Given the description of an element on the screen output the (x, y) to click on. 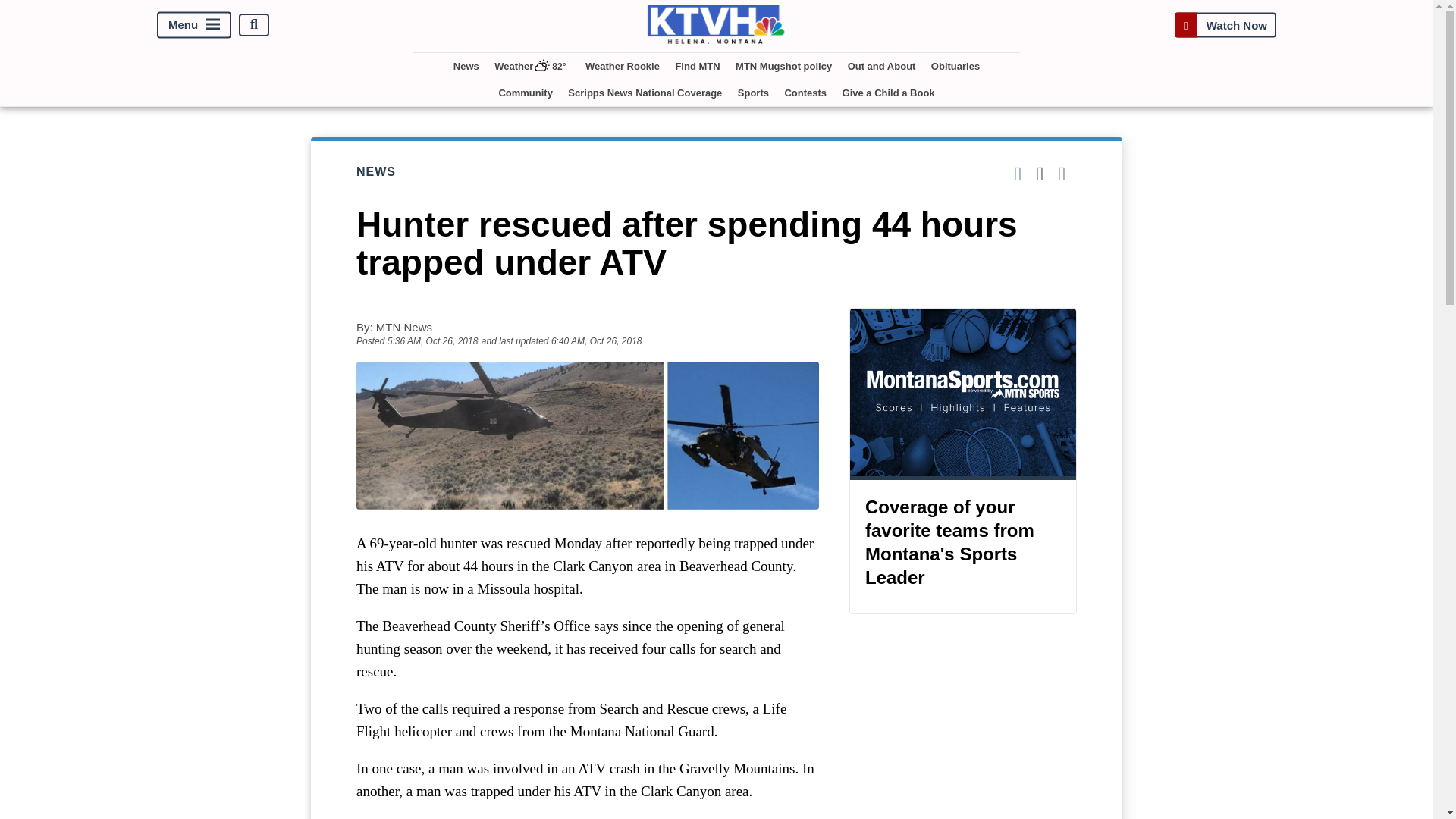
Menu (194, 24)
Watch Now (1224, 24)
